Given the description of an element on the screen output the (x, y) to click on. 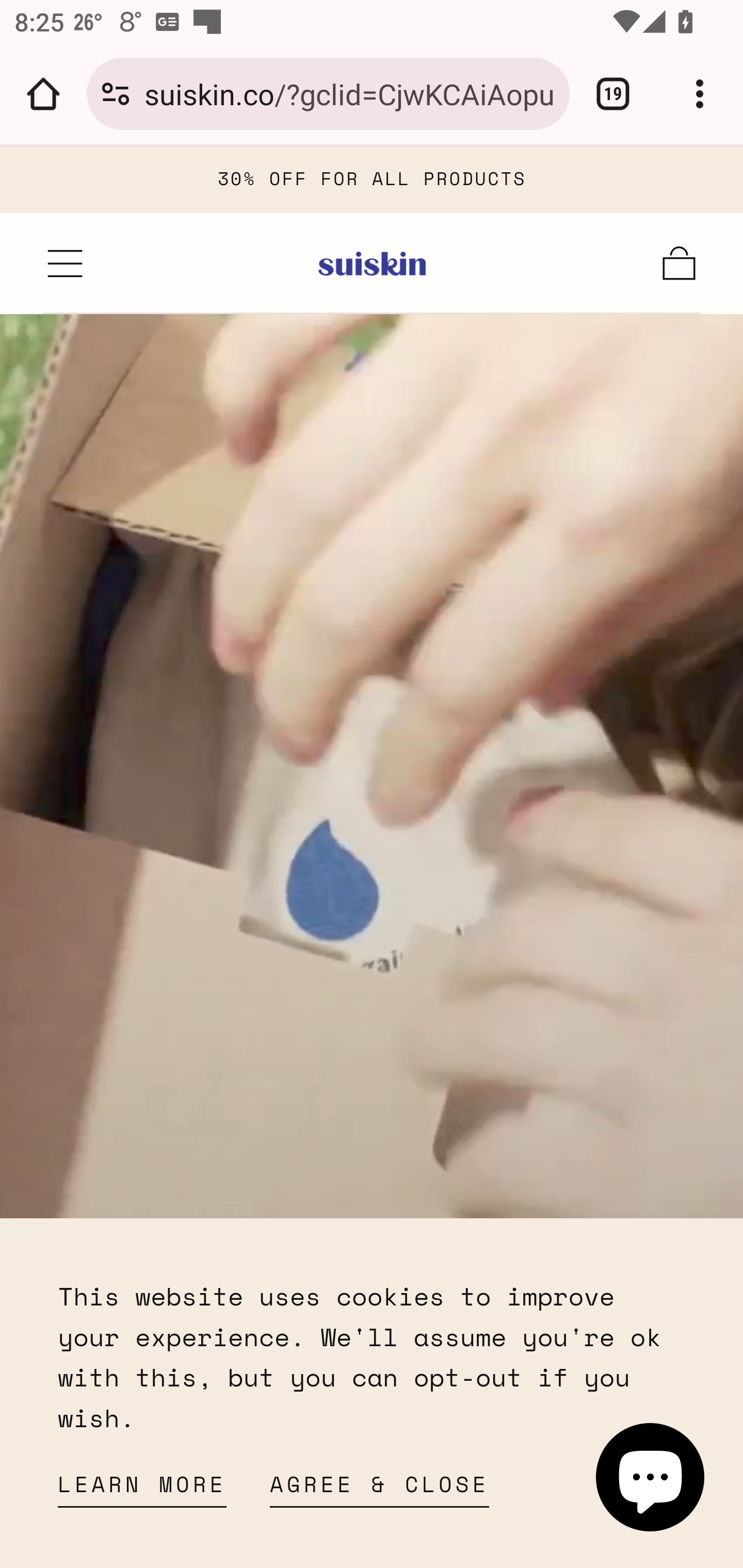
Open the home page (43, 93)
Connection is secure (115, 93)
Switch or close tabs (612, 93)
Customize and control Google Chrome (699, 93)
Toggle menu drawer (65, 263)
Cart (679, 263)
suiskin suiskin suiskin   suiskin (372, 262)
Chat window (650, 1476)
LEARN MORE (142, 1489)
AGREE & CLOSE (379, 1489)
